Given the description of an element on the screen output the (x, y) to click on. 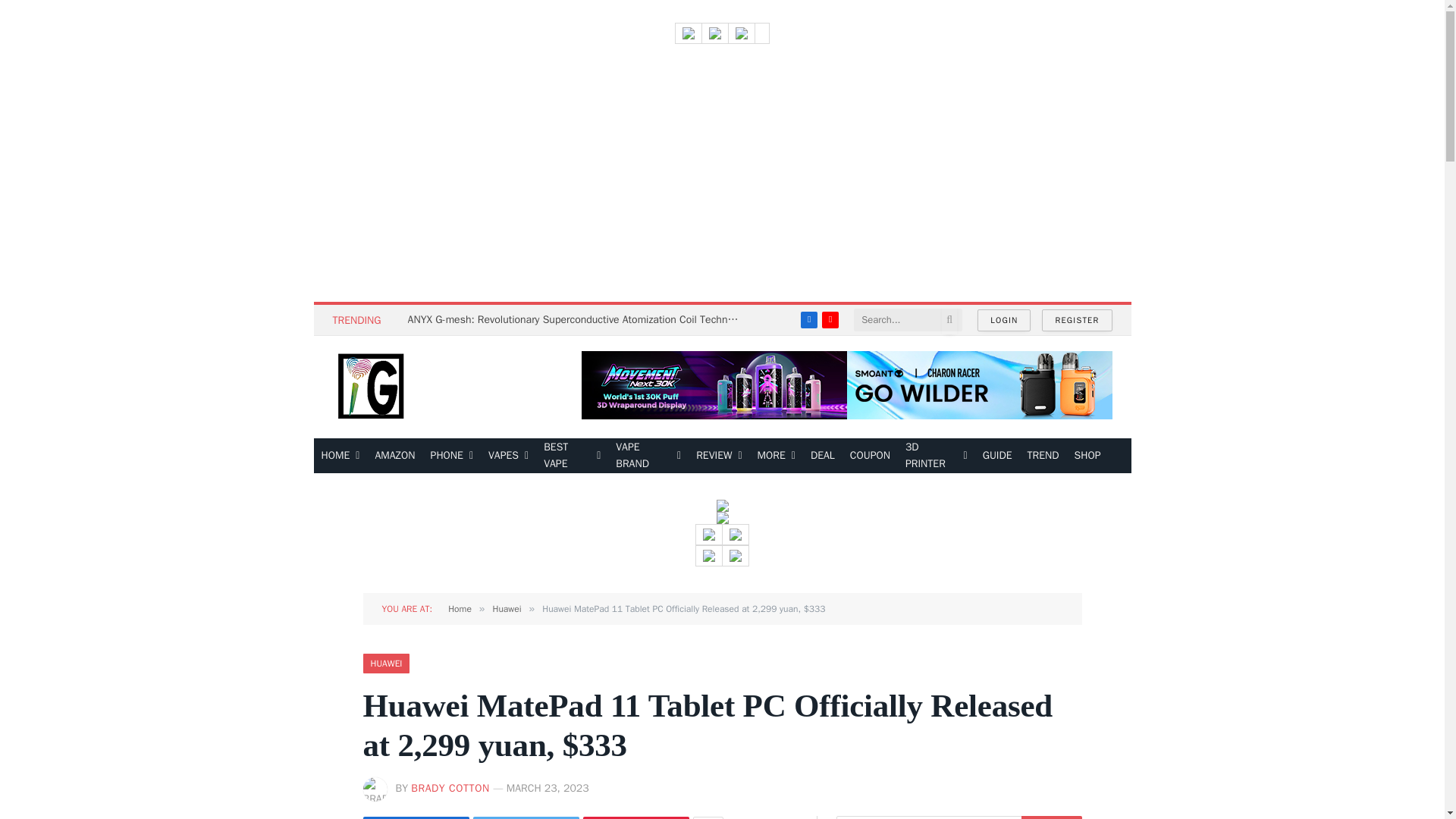
Share on Twitter (526, 817)
YouTube (830, 320)
HOME (341, 455)
Search (1051, 817)
AMAZON (394, 455)
LOGIN (1003, 320)
Posts by Brady Cotton (449, 788)
Share on Pinterest (635, 817)
